Given the description of an element on the screen output the (x, y) to click on. 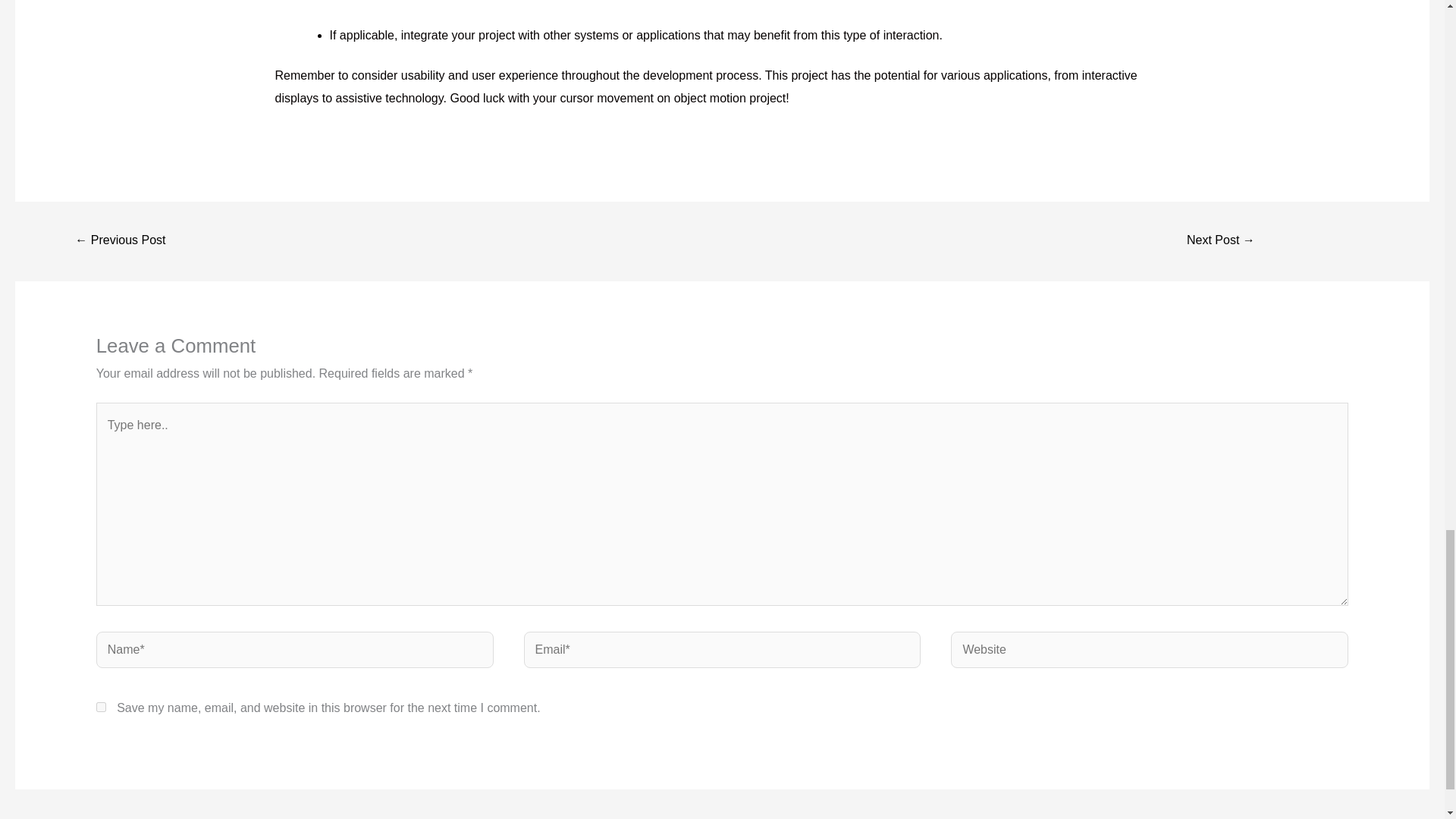
e-Authentication system project. (119, 241)
yes (101, 706)
Crime rate prediction. (1220, 241)
